Given the description of an element on the screen output the (x, y) to click on. 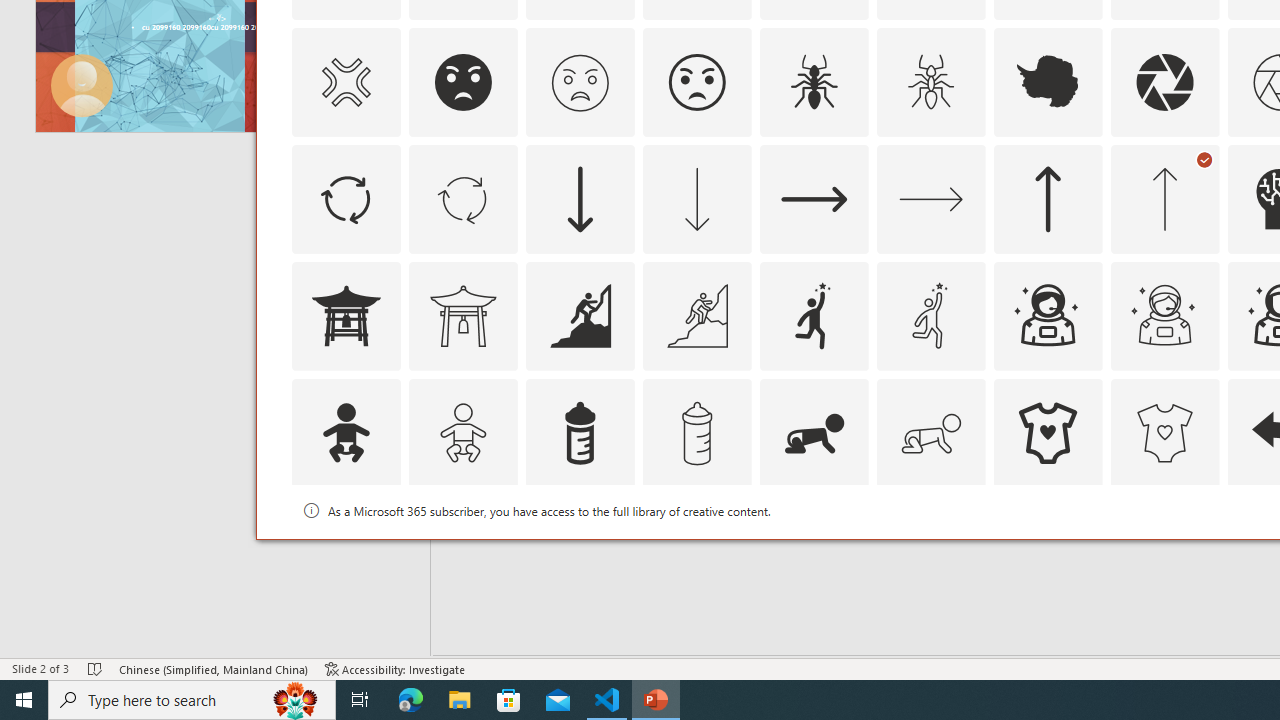
AutomationID: Icons_AstronautFemale_M (1164, 316)
AutomationID: Icons_BabyOnesie (1048, 432)
AutomationID: Icons (1048, 550)
AutomationID: Icons_Badge4_M (1048, 550)
AutomationID: Icons_BabyBottle (579, 432)
AutomationID: Icons_AngerSymbol_M (345, 82)
